Given the description of an element on the screen output the (x, y) to click on. 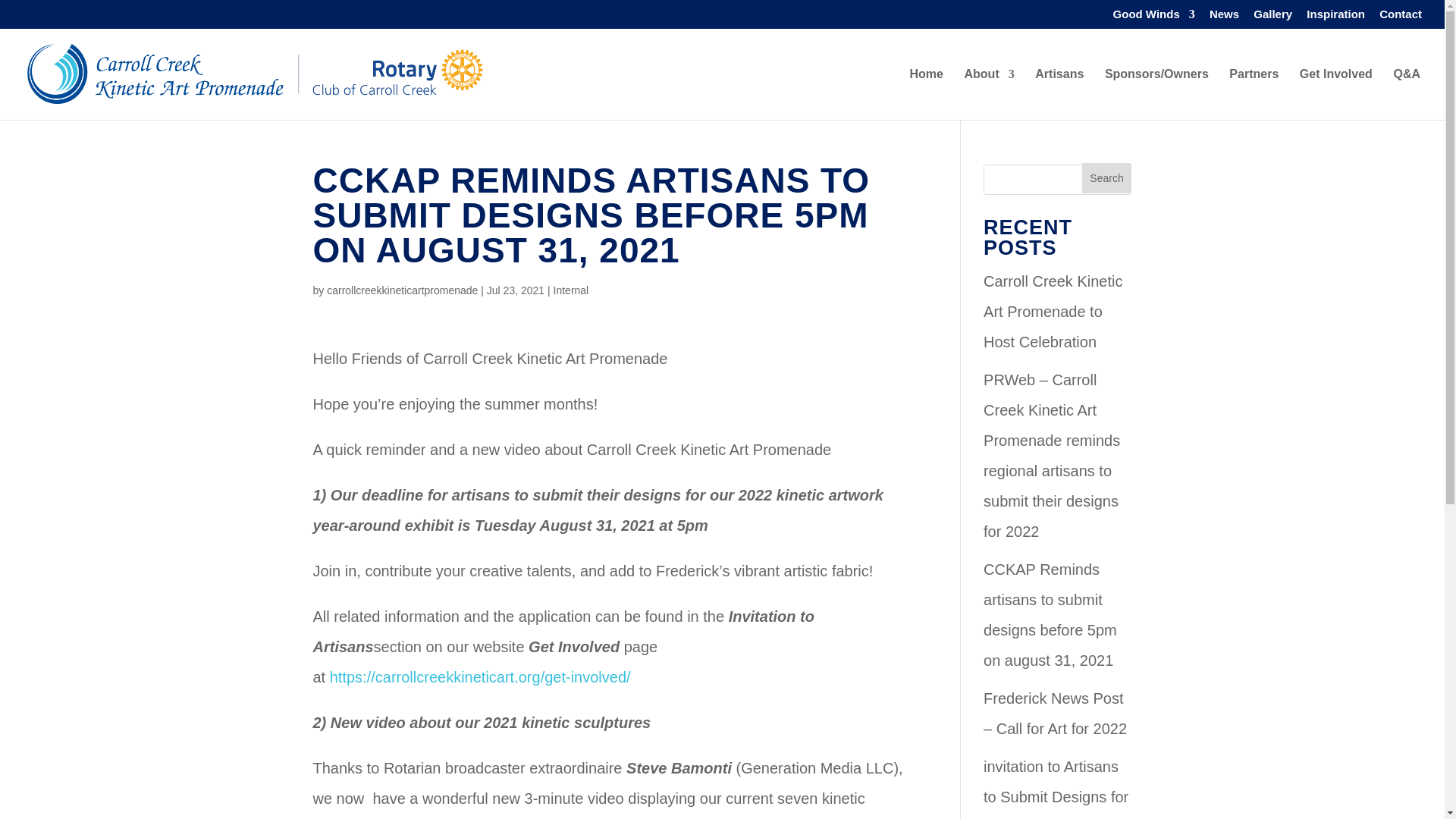
Posts by carrollcreekkineticartpromenade (401, 290)
About (988, 92)
Partners (1253, 92)
Search (1106, 177)
Contact (1400, 17)
Get Involved (1336, 92)
Inspiration (1335, 17)
Good Winds (1154, 17)
Artisans (1059, 92)
Gallery (1272, 17)
